Given the description of an element on the screen output the (x, y) to click on. 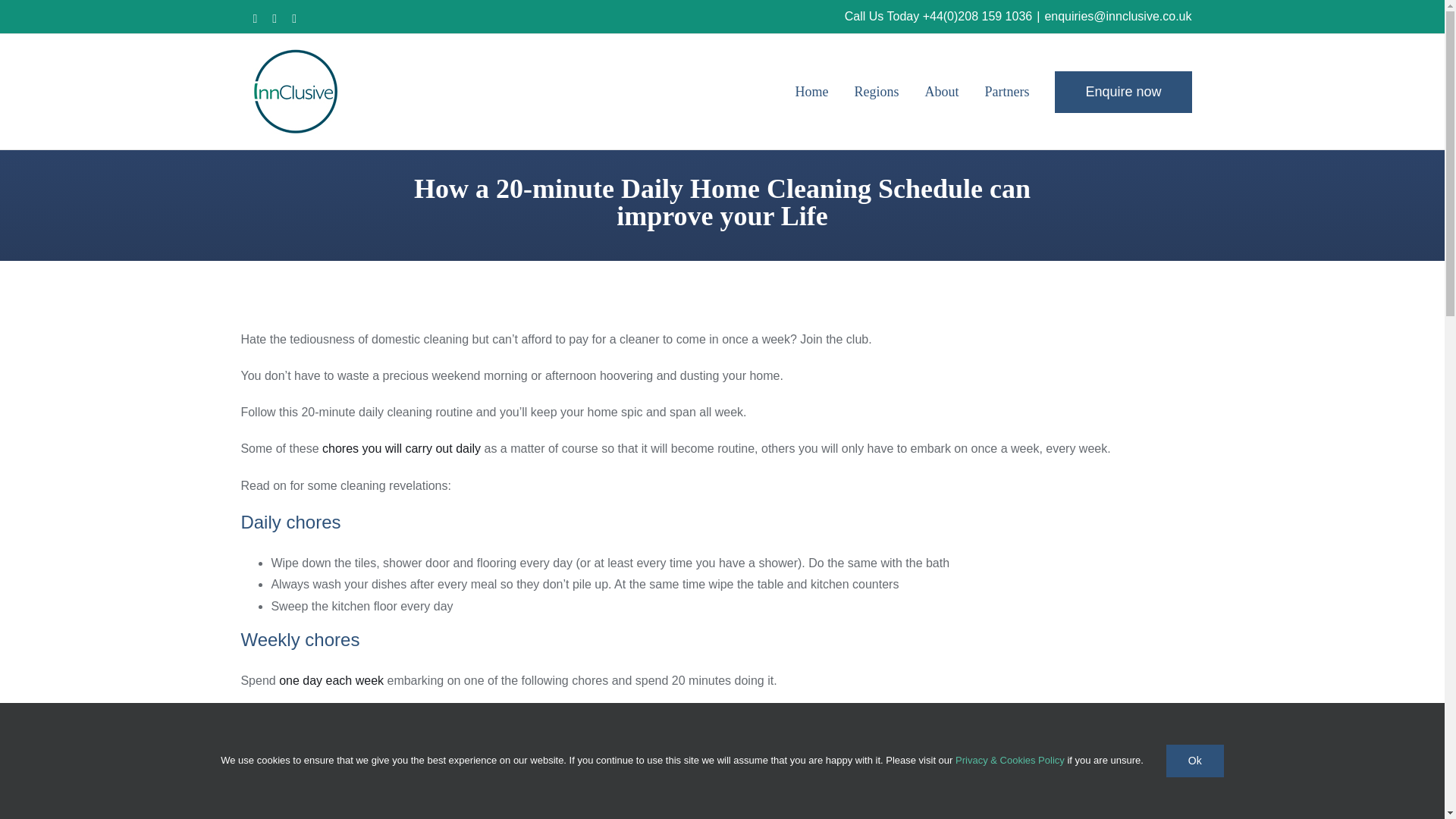
Enquire now (1122, 91)
